Given the description of an element on the screen output the (x, y) to click on. 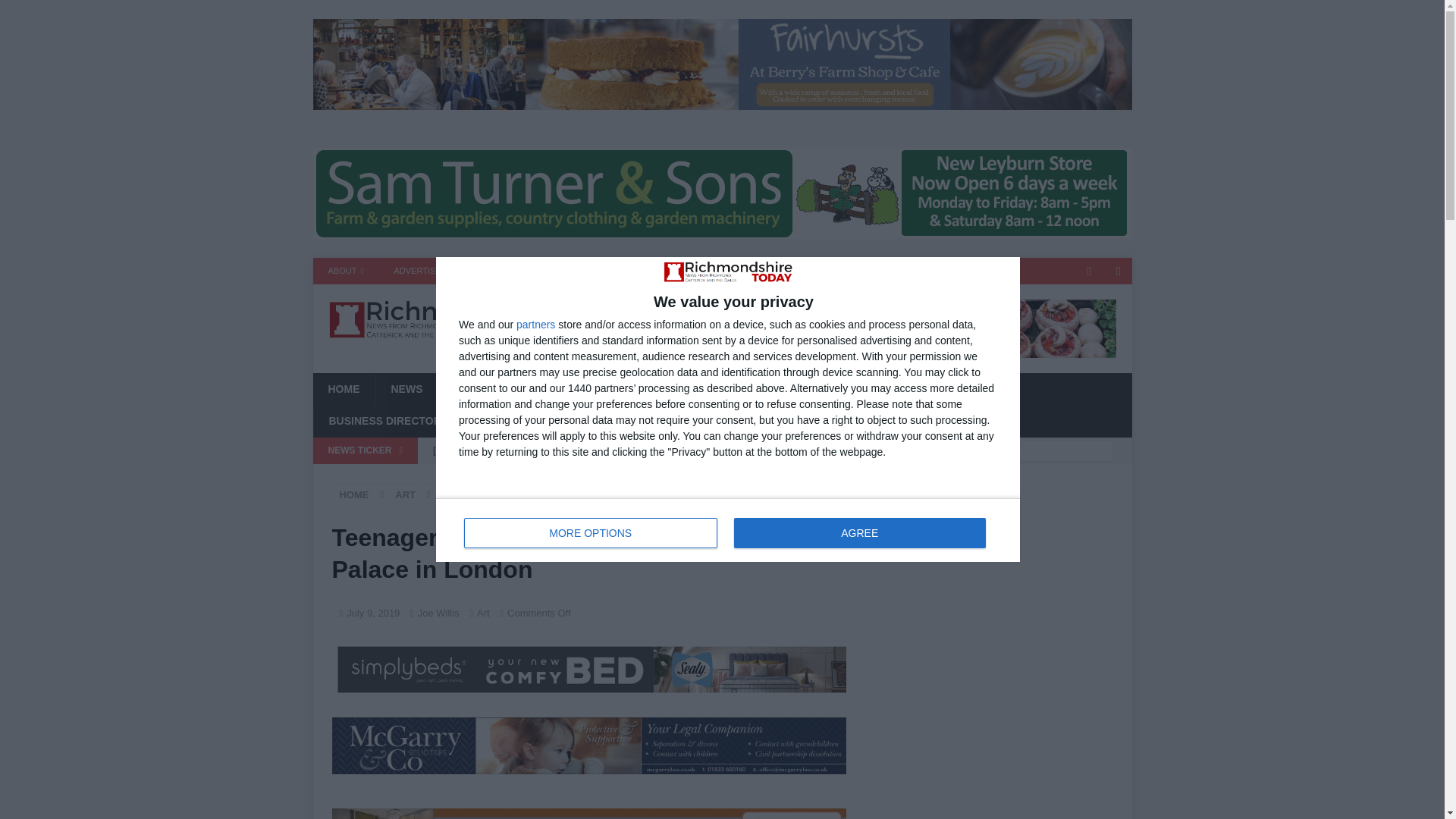
Rishi Sunak joins Dales community garden celebrations (634, 475)
ABOUT (345, 270)
CONTACT (491, 270)
Air ambulance team to complete 70-mile ultramarathon (634, 450)
ADVERTISE (416, 270)
partners (535, 324)
MORE OPTIONS (727, 529)
MAGAZINE (590, 532)
AGREE (566, 270)
